Given the description of an element on the screen output the (x, y) to click on. 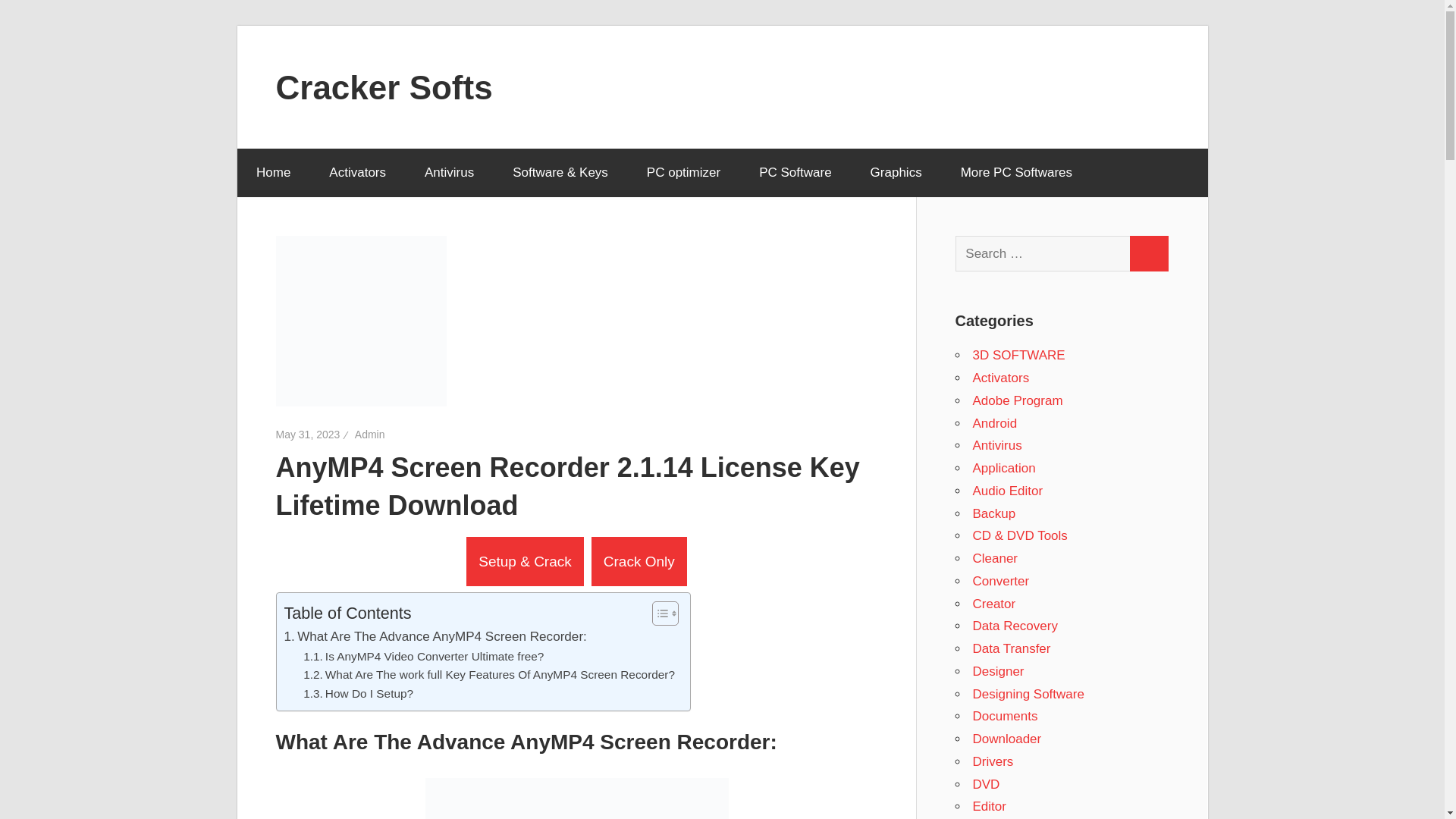
View all posts by Admin (370, 434)
How Do I Setup? (357, 693)
Cracker Softs (384, 86)
PC Software (794, 172)
Is AnyMP4 Video Converter Ultimate free? (422, 656)
More PC Softwares (1021, 172)
Crack Only (639, 561)
Antivirus (448, 172)
Activators (358, 172)
Admin (370, 434)
What Are The Advance AnyMP4 Screen Recorder: (434, 636)
Graphics (895, 172)
